Given the description of an element on the screen output the (x, y) to click on. 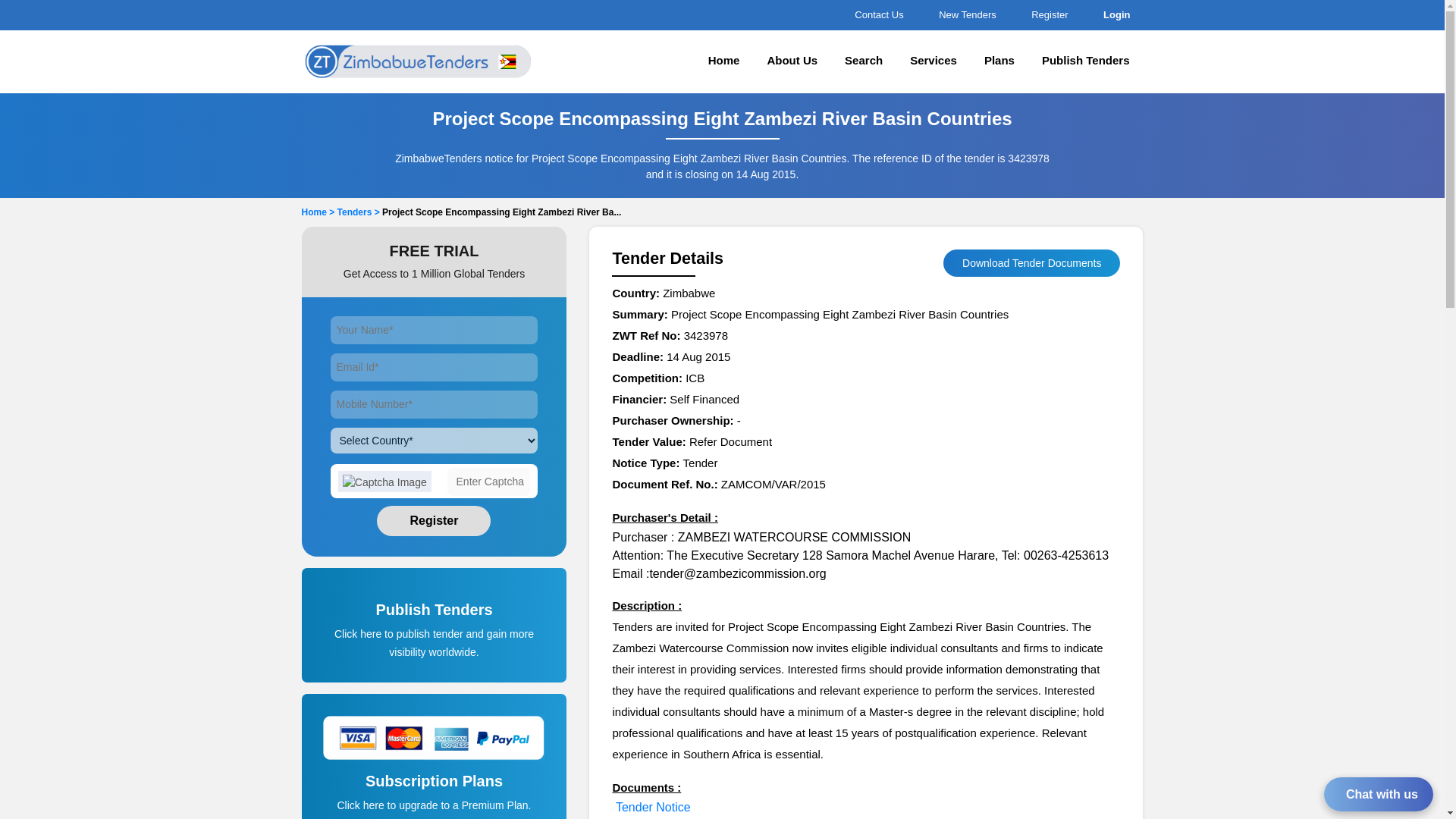
Click here to upgrade to a Premium Plan. (433, 805)
Tender Notice (652, 807)
Subscription Plans (434, 795)
Login (1114, 14)
New Tenders (964, 14)
Download Tender Documents (1031, 263)
About Us (791, 61)
Contact Us (876, 14)
Publish Tenders (1084, 61)
